Given the description of an element on the screen output the (x, y) to click on. 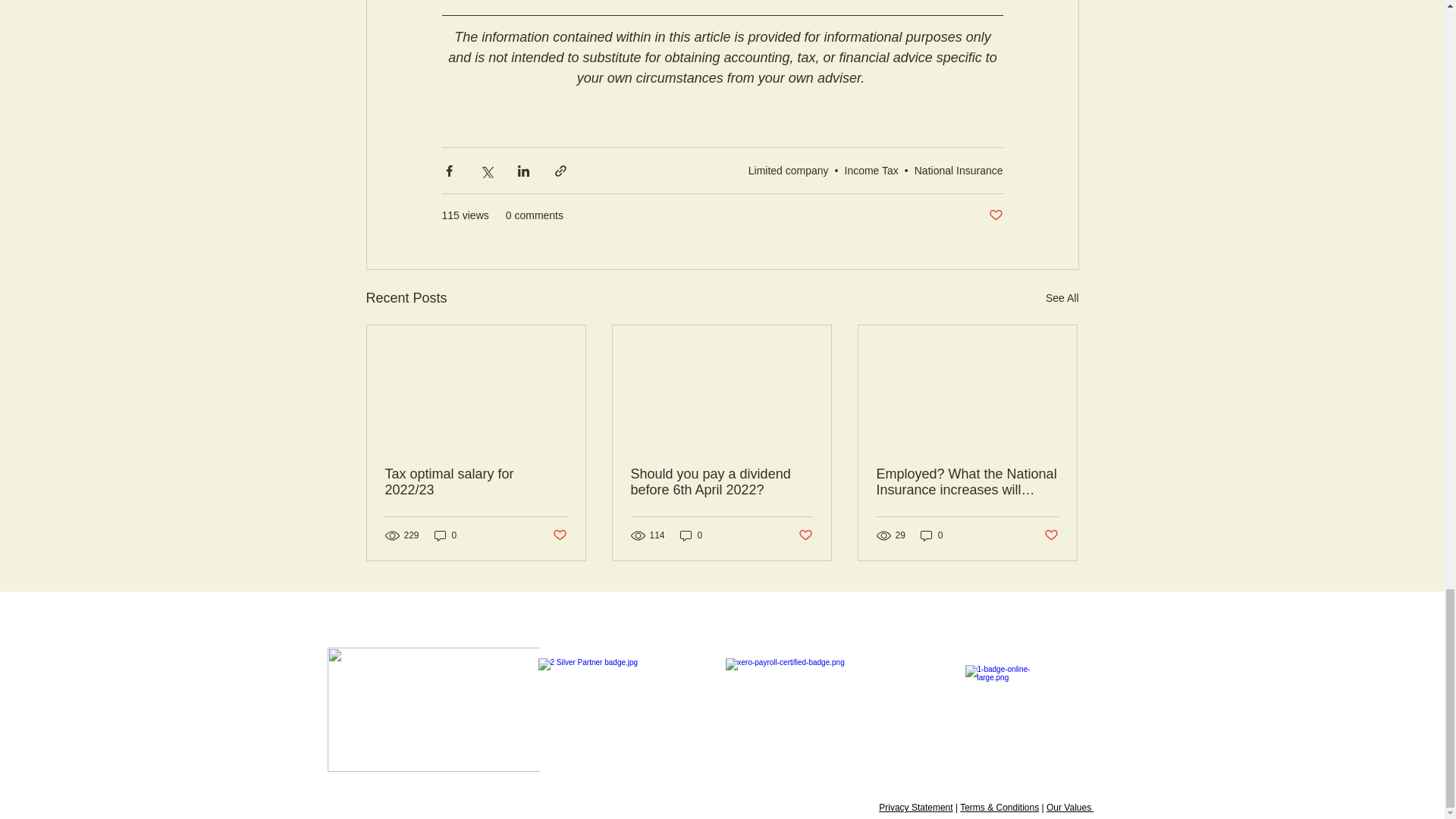
Post not marked as liked (995, 215)
Limited company (788, 170)
Income Tax (871, 170)
National Insurance (958, 170)
See All (1061, 298)
xero bronze partner (627, 709)
0 (445, 535)
xero bronze partner (813, 709)
